Given the description of an element on the screen output the (x, y) to click on. 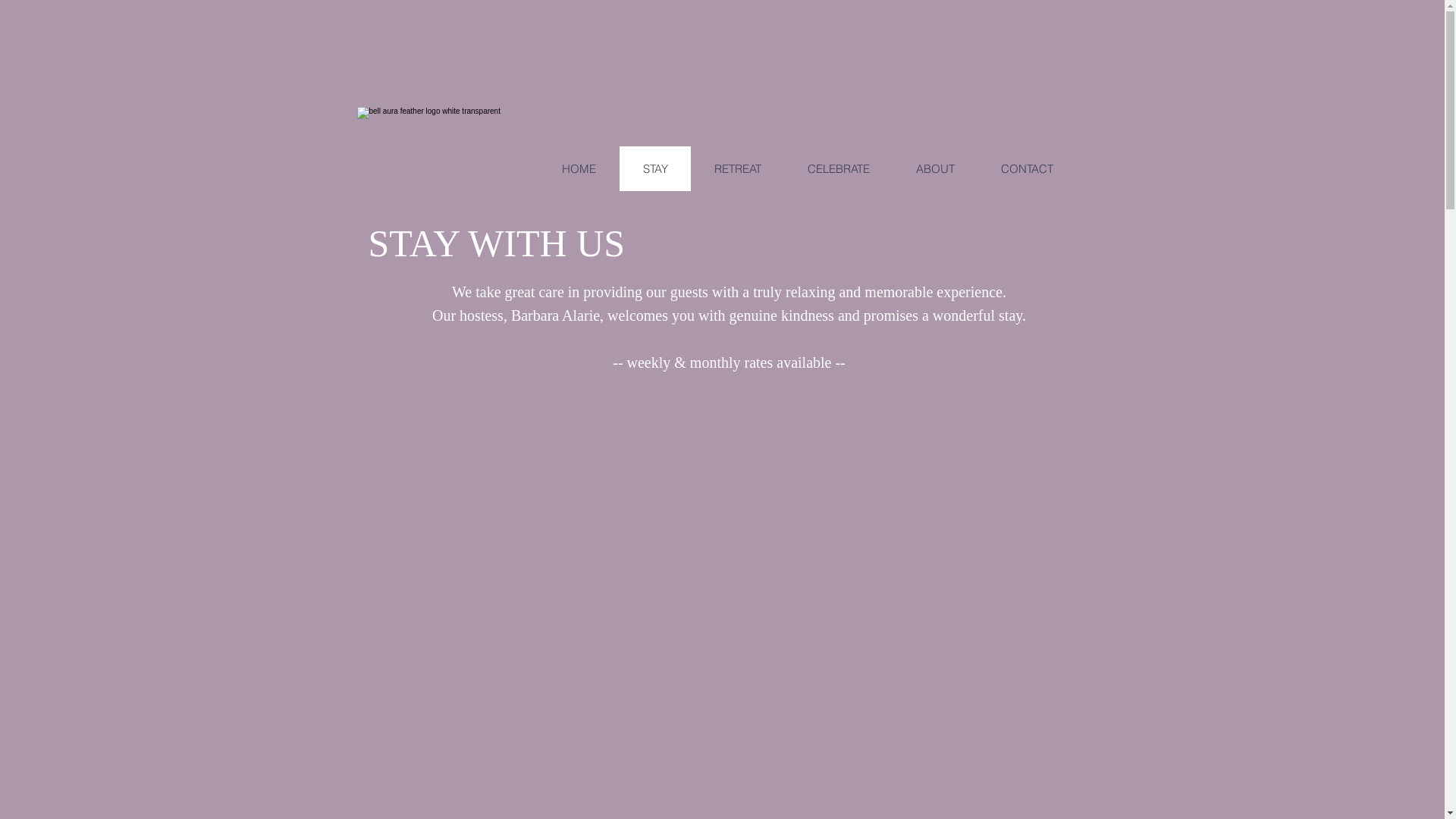
STAY Element type: text (654, 168)
CELEBRATE Element type: text (838, 168)
CONTACT Element type: text (1025, 168)
HOME Element type: text (578, 168)
RETREAT Element type: text (736, 168)
ABOUT Element type: text (933, 168)
Bell Aura transparent purple.png Element type: hover (457, 146)
